Given the description of an element on the screen output the (x, y) to click on. 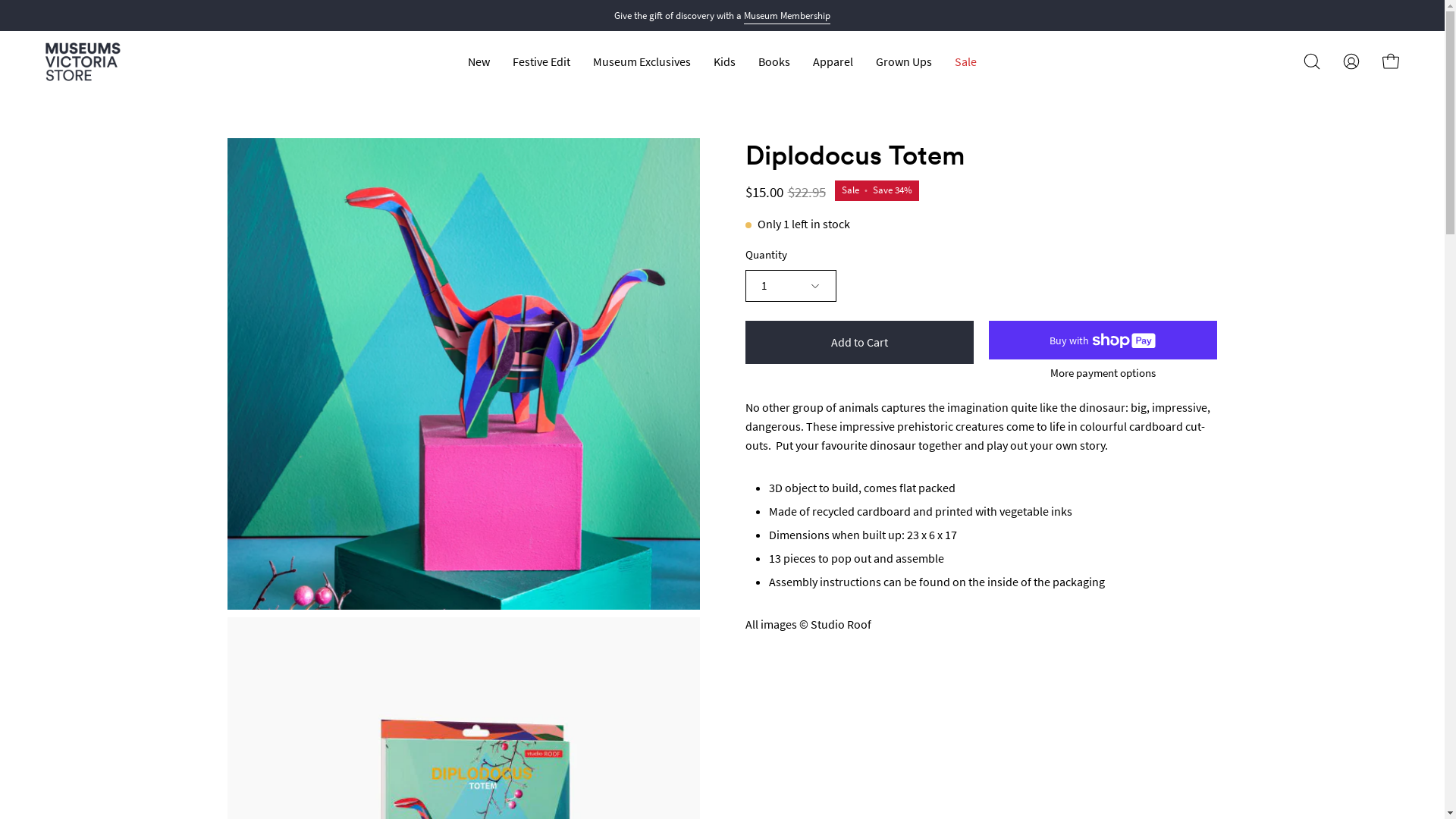
Museum Exclusives Element type: text (641, 61)
Grown Ups Element type: text (903, 61)
Open image lightbox Element type: text (463, 374)
More payment options Element type: text (1102, 372)
New Element type: text (478, 61)
Add to Cart Element type: text (858, 341)
Sale Element type: text (965, 61)
Museum Membership Element type: text (786, 15)
Festive Edit Element type: text (541, 61)
Books Element type: text (773, 61)
Kids Element type: text (724, 61)
Open cart Element type: text (1390, 61)
1 Element type: text (789, 285)
Apparel Element type: text (832, 61)
My Account Element type: text (1351, 61)
